Given the description of an element on the screen output the (x, y) to click on. 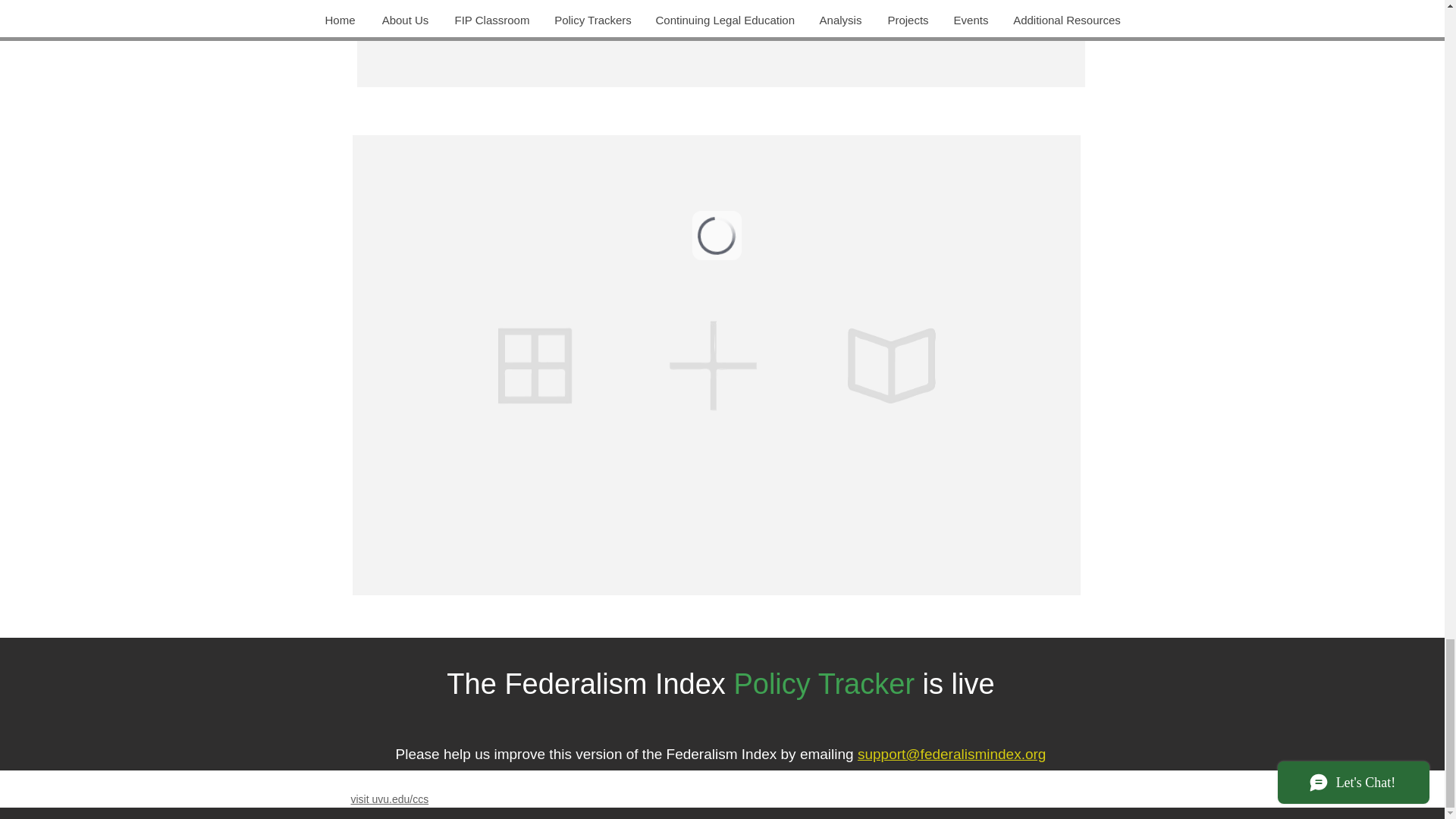
Embedded Content (721, 47)
